Given the description of an element on the screen output the (x, y) to click on. 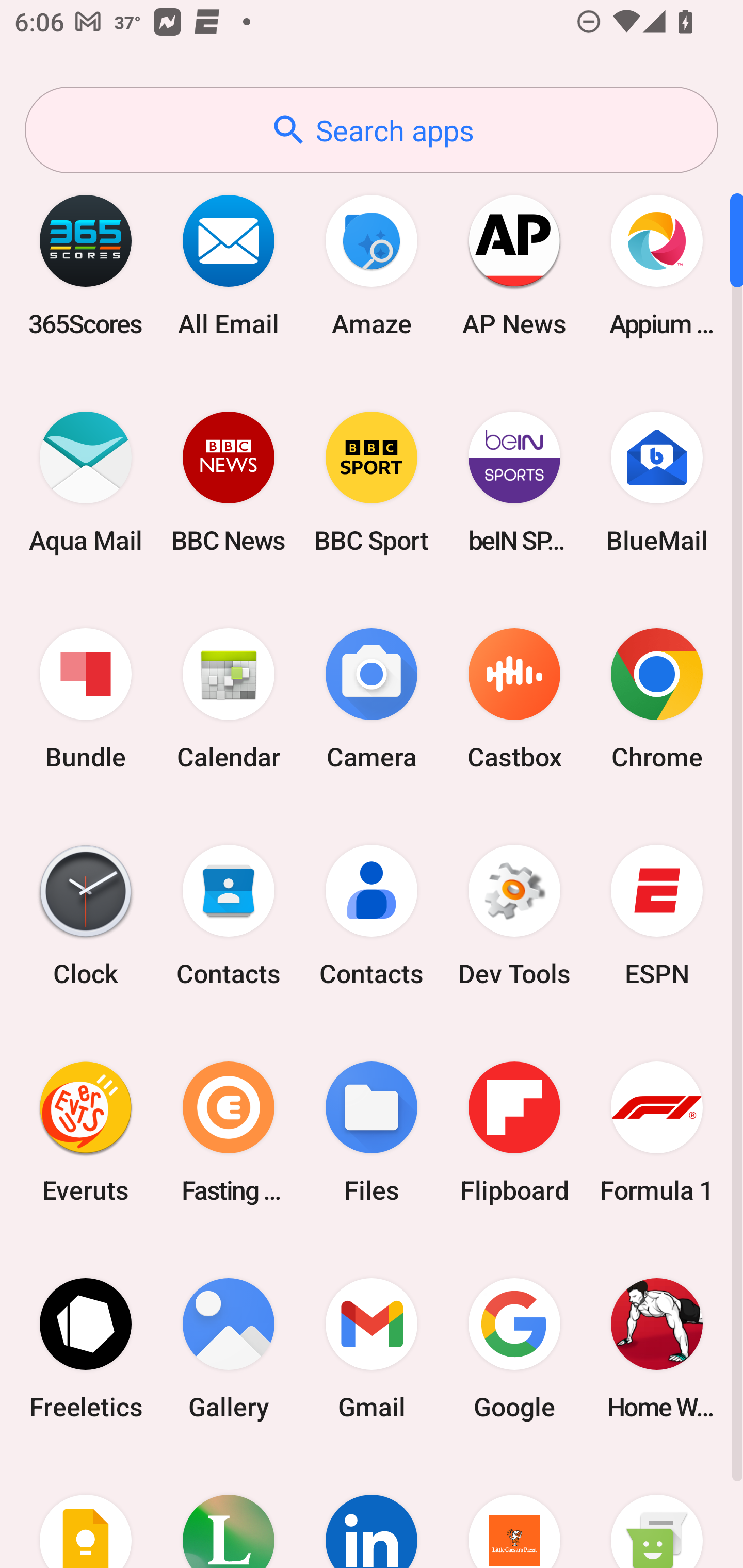
  Search apps (371, 130)
365Scores (85, 264)
All Email (228, 264)
Amaze (371, 264)
AP News (514, 264)
Appium Settings (656, 264)
Aqua Mail (85, 482)
BBC News (228, 482)
BBC Sport (371, 482)
beIN SPORTS (514, 482)
BlueMail (656, 482)
Bundle (85, 699)
Calendar (228, 699)
Camera (371, 699)
Castbox (514, 699)
Chrome (656, 699)
Clock (85, 915)
Contacts (228, 915)
Contacts (371, 915)
Dev Tools (514, 915)
ESPN (656, 915)
Everuts (85, 1131)
Fasting Coach (228, 1131)
Files (371, 1131)
Flipboard (514, 1131)
Formula 1 (656, 1131)
Freeletics (85, 1348)
Gallery (228, 1348)
Gmail (371, 1348)
Google (514, 1348)
Home Workout (656, 1348)
